Given the description of an element on the screen output the (x, y) to click on. 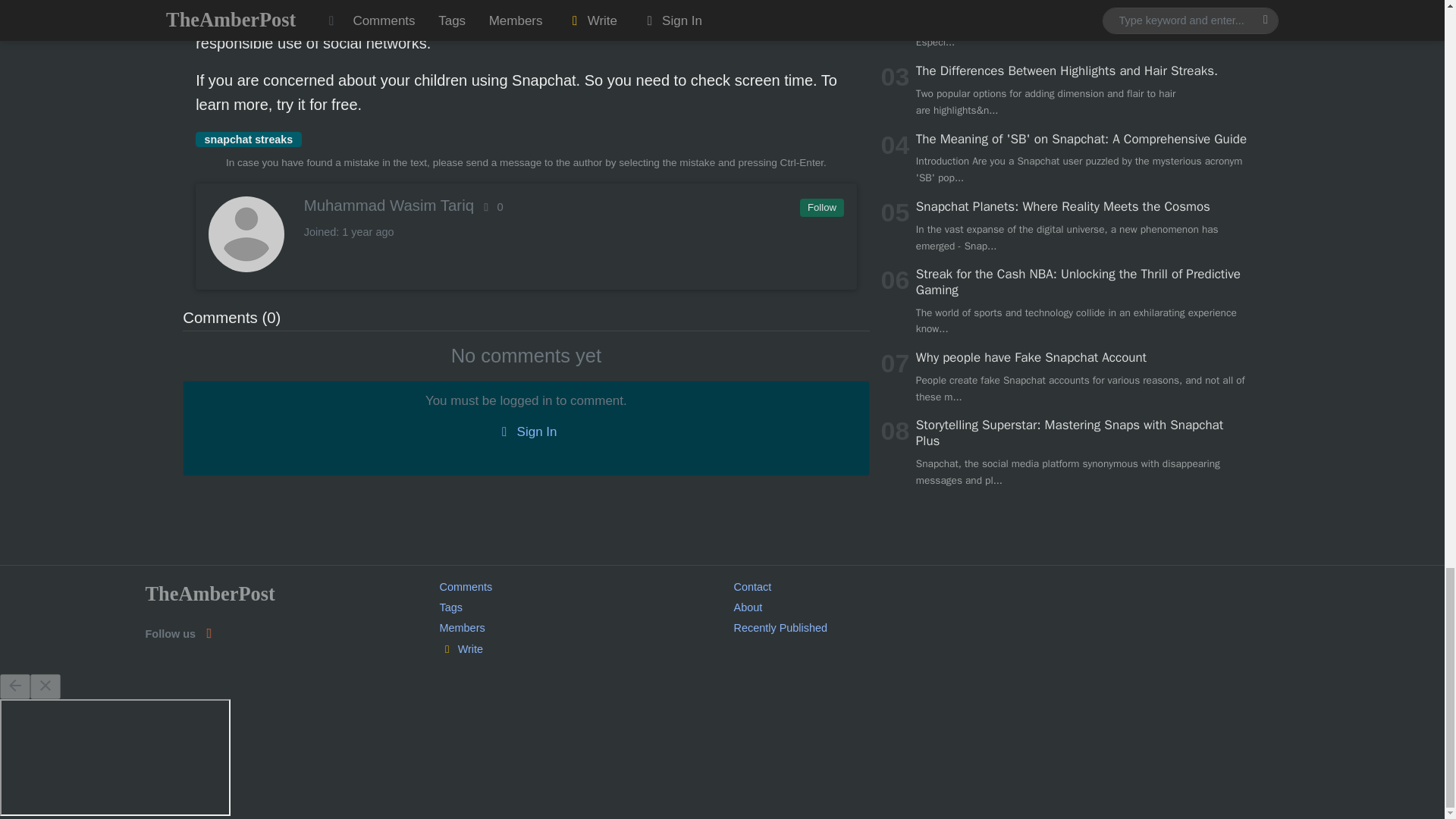
Muhammad Wasim Tariq 0 (525, 205)
Sign In (525, 431)
Follow (821, 208)
Rating (491, 206)
Comments (466, 586)
Tags (451, 607)
snapchat streaks (248, 139)
snapchat streaks (248, 139)
